Given the description of an element on the screen output the (x, y) to click on. 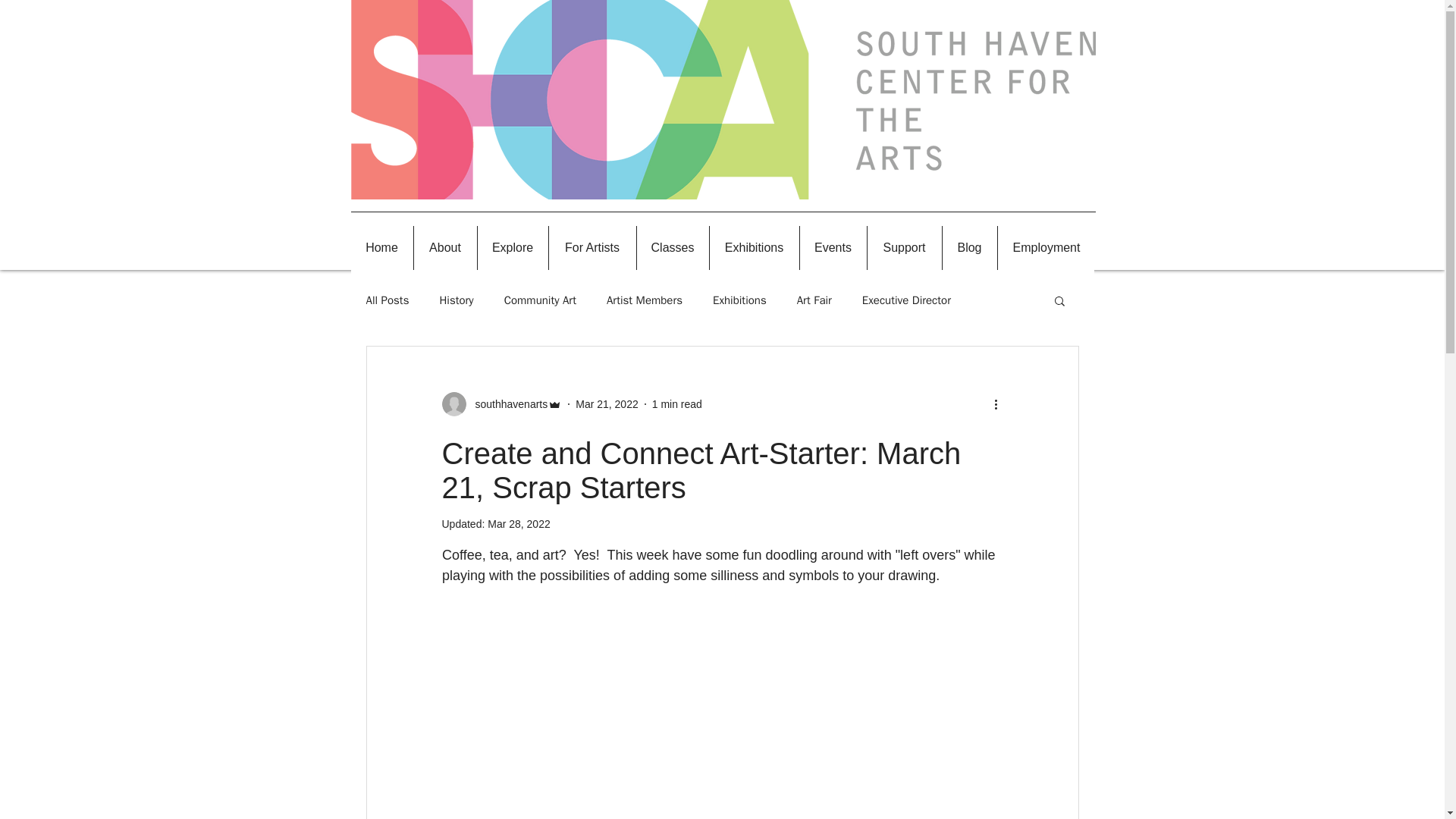
Mar 28, 2022 (518, 523)
Events (832, 248)
Home (381, 248)
Community Art (539, 299)
1 min read (676, 403)
southhavenarts (506, 403)
Employment (1046, 248)
Mar 21, 2022 (607, 403)
Classes (673, 248)
Artist Members (644, 299)
History (456, 299)
Exhibitions (740, 299)
Blog (968, 248)
All Posts (387, 299)
